Given the description of an element on the screen output the (x, y) to click on. 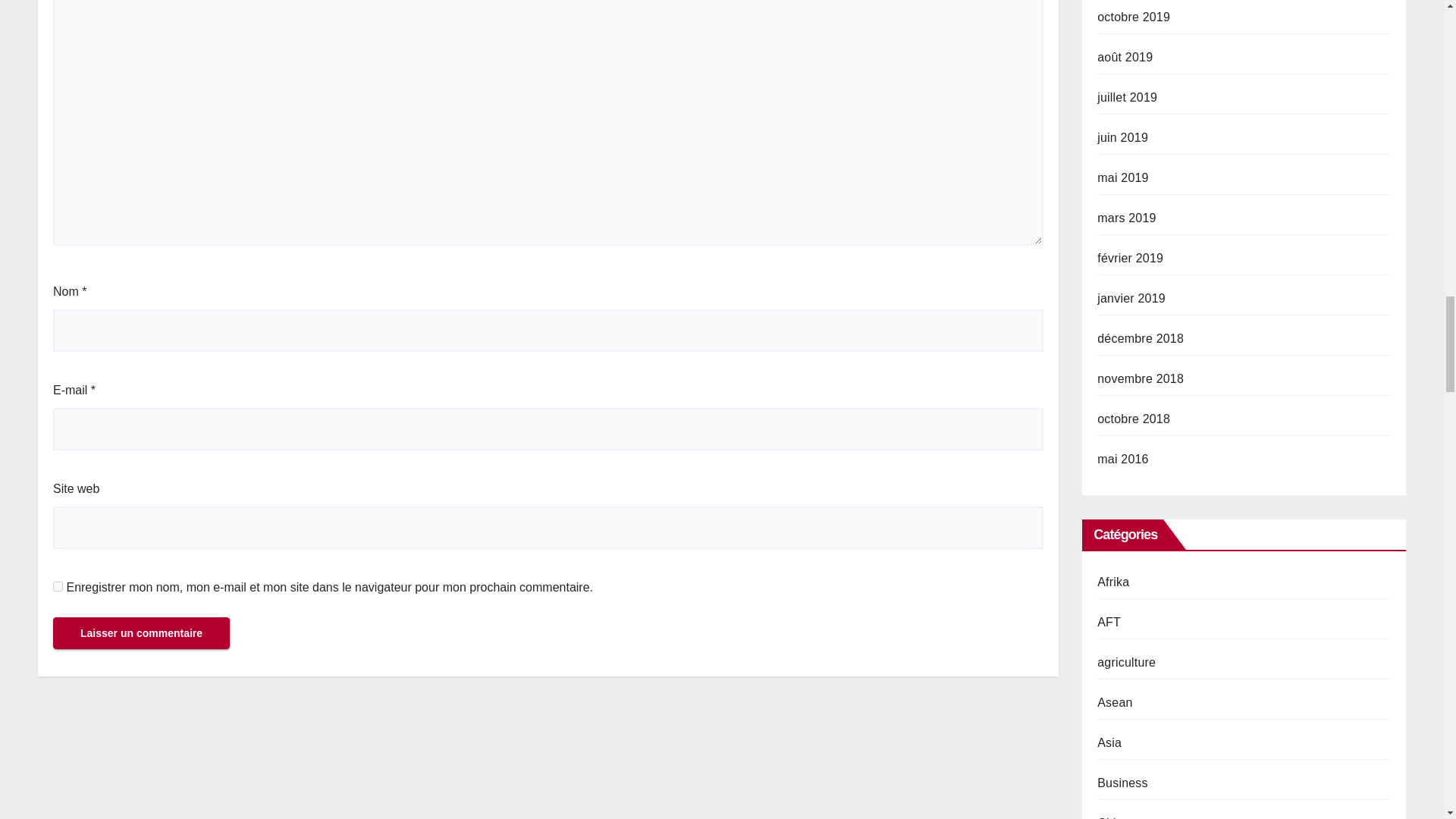
Laisser un commentaire (141, 633)
yes (57, 586)
